Given the description of an element on the screen output the (x, y) to click on. 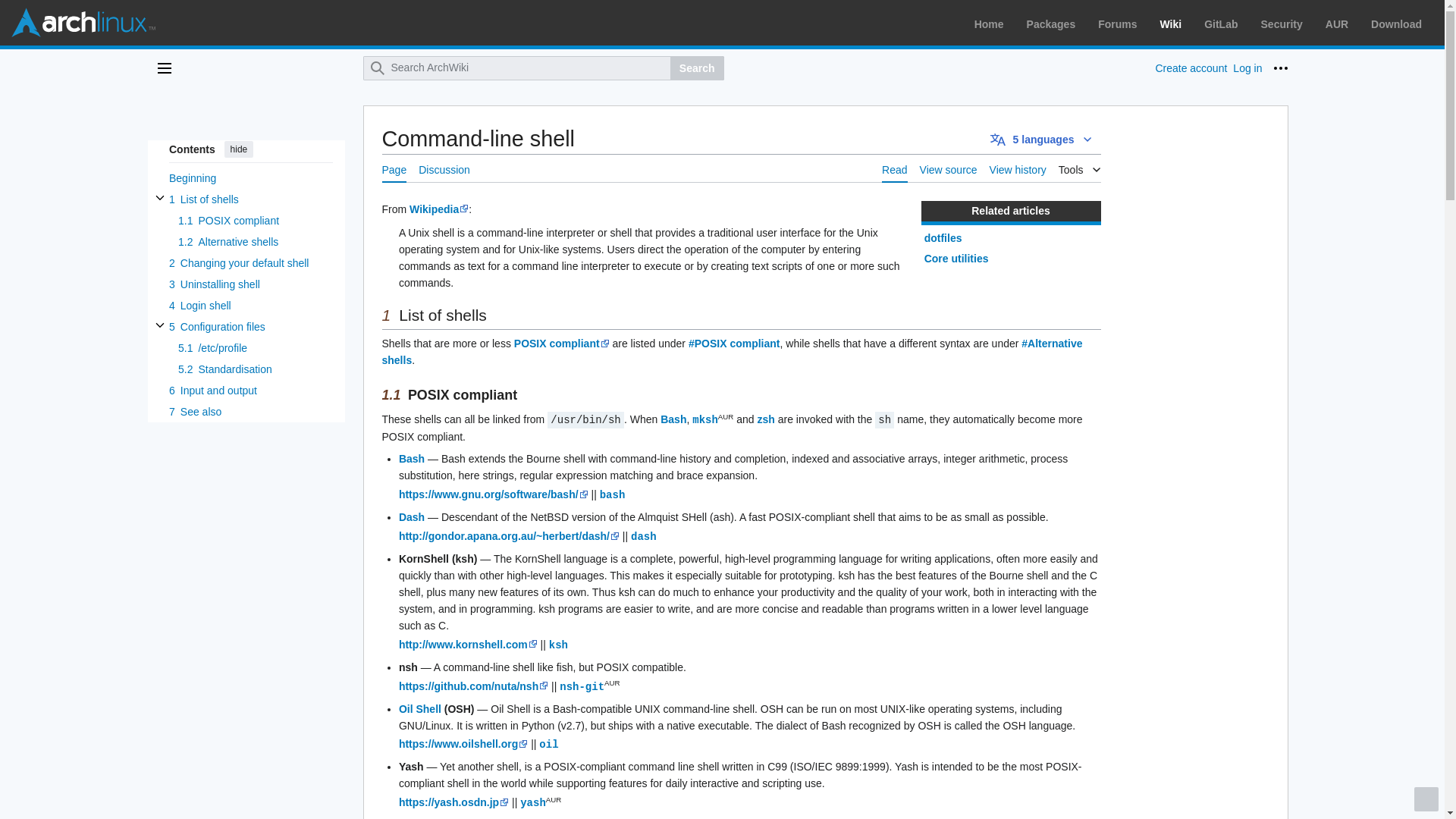
More options (1280, 68)
hide (238, 149)
Home (989, 24)
Security (1281, 24)
AUR (1336, 24)
Search (696, 68)
Toggle List of shells subsection (159, 197)
Wiki (1171, 24)
Log in (1247, 68)
Download (1396, 24)
